Given the description of an element on the screen output the (x, y) to click on. 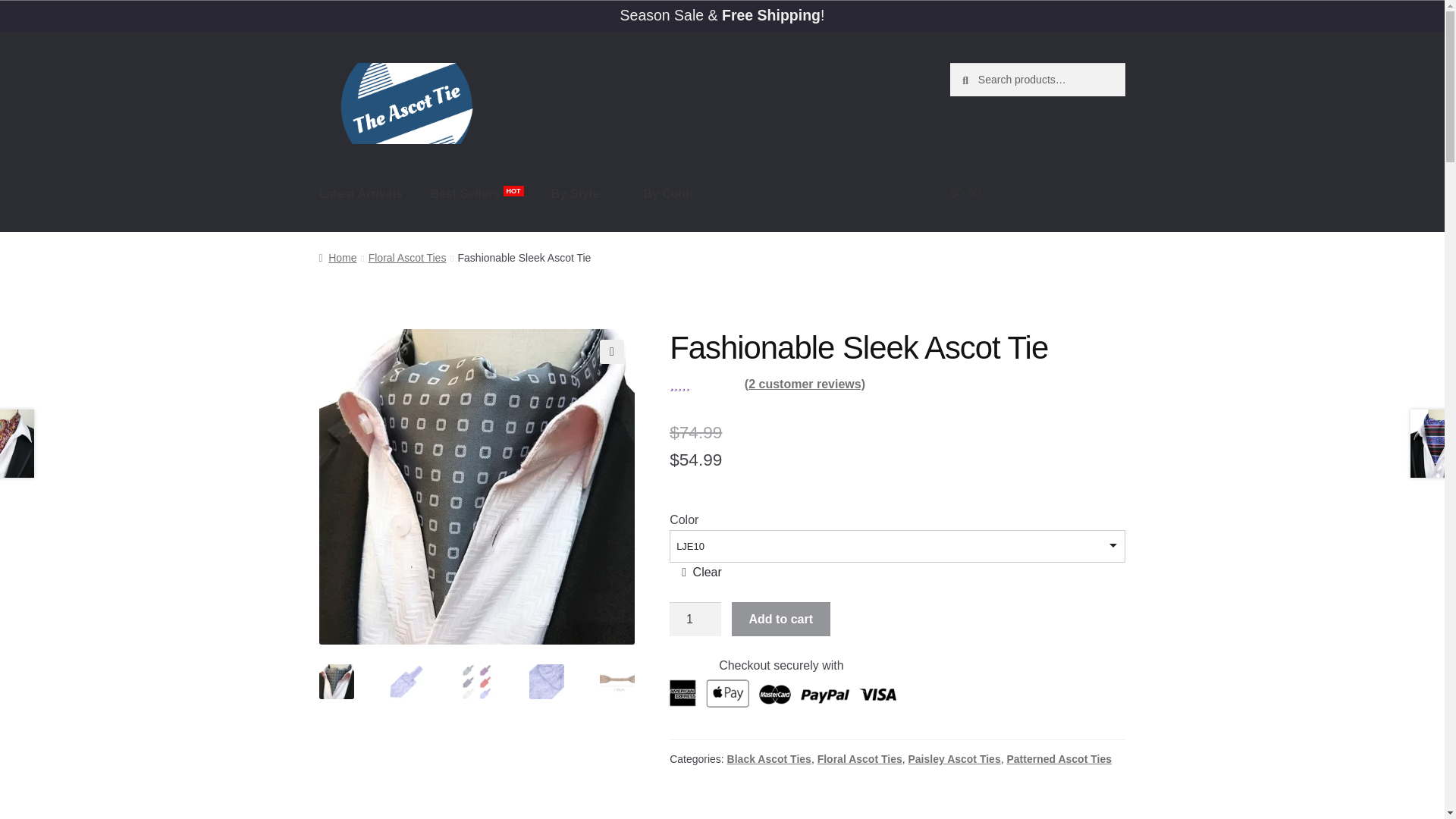
By Style (582, 193)
View your shopping cart (1037, 193)
By Color (676, 193)
Floral Ascot Ties (407, 257)
Home (337, 257)
Latest Arrivals (360, 193)
Best Sellers HOT (477, 193)
1 (694, 619)
